Given the description of an element on the screen output the (x, y) to click on. 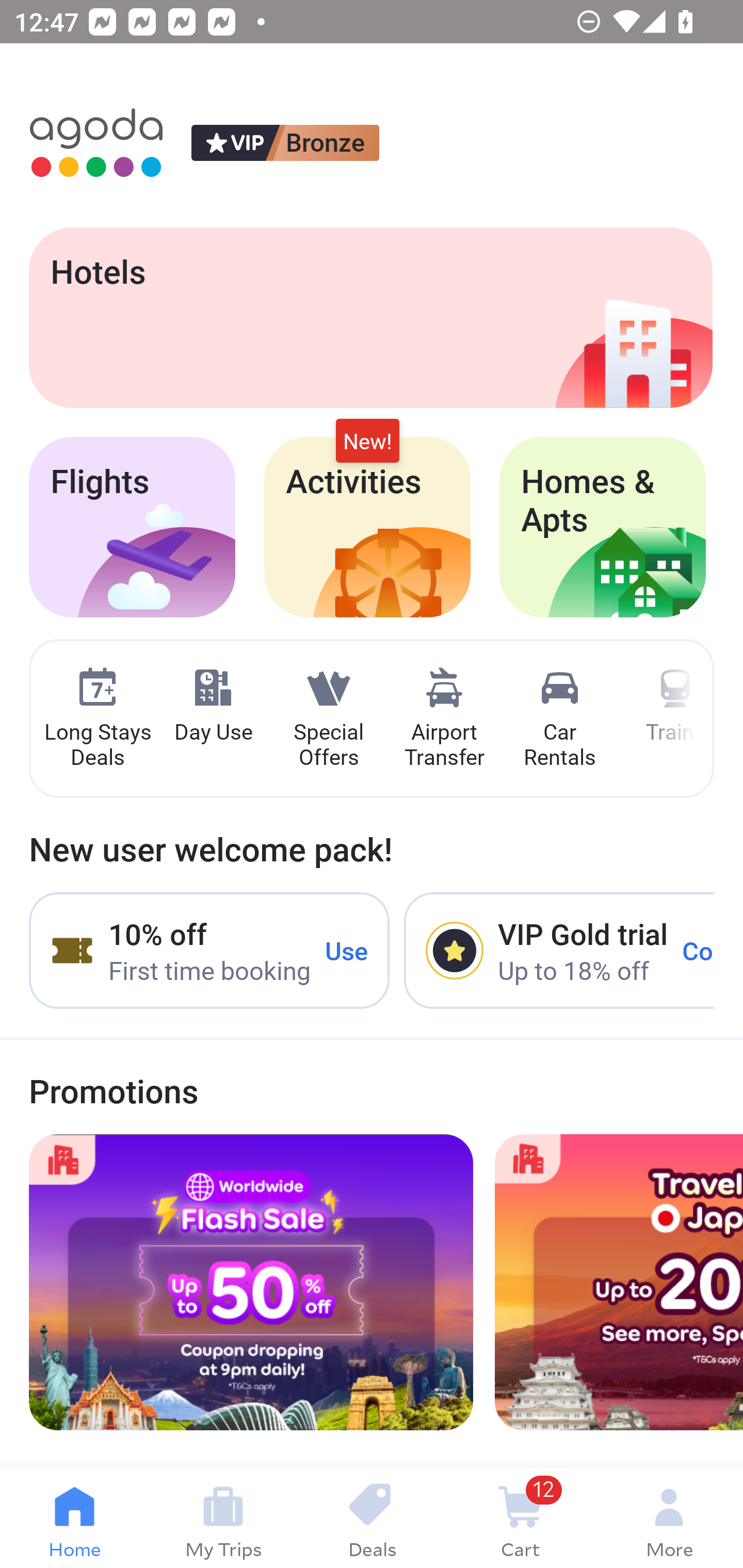
Hotels (370, 317)
New! (367, 441)
Flights (131, 527)
Activities (367, 527)
Homes & Apts (602, 527)
Day Use (213, 706)
Long Stays Deals (97, 718)
Special Offers (328, 718)
Airport Transfer (444, 718)
Car Rentals (559, 718)
Use (346, 950)
Home (74, 1518)
My Trips (222, 1518)
Deals (371, 1518)
12 Cart (519, 1518)
More (668, 1518)
